Given the description of an element on the screen output the (x, y) to click on. 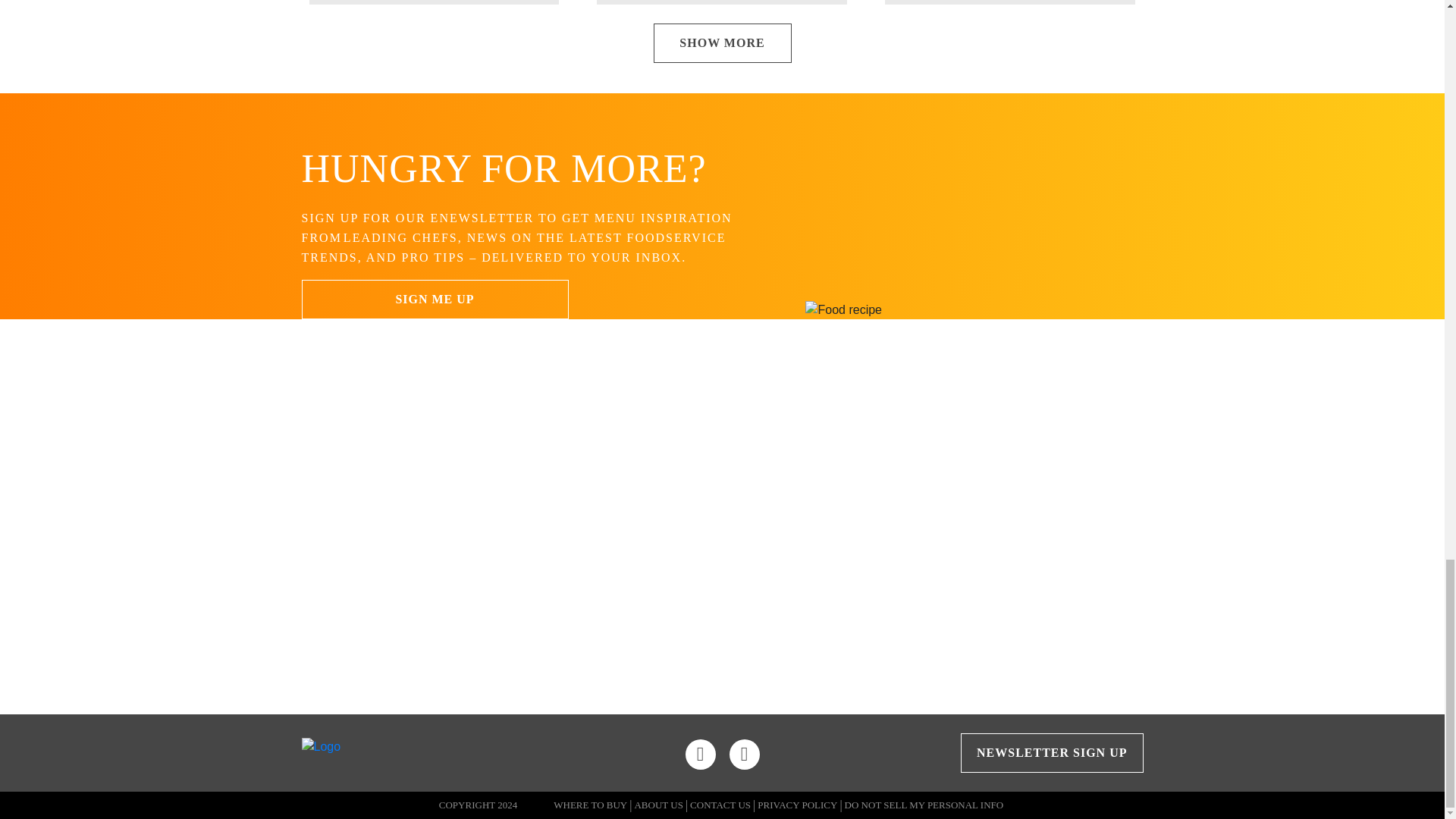
READ THE STORY OF SOY SAUCE (883, 596)
SHOW MORE (722, 43)
SIGN ME UP (435, 299)
